Given the description of an element on the screen output the (x, y) to click on. 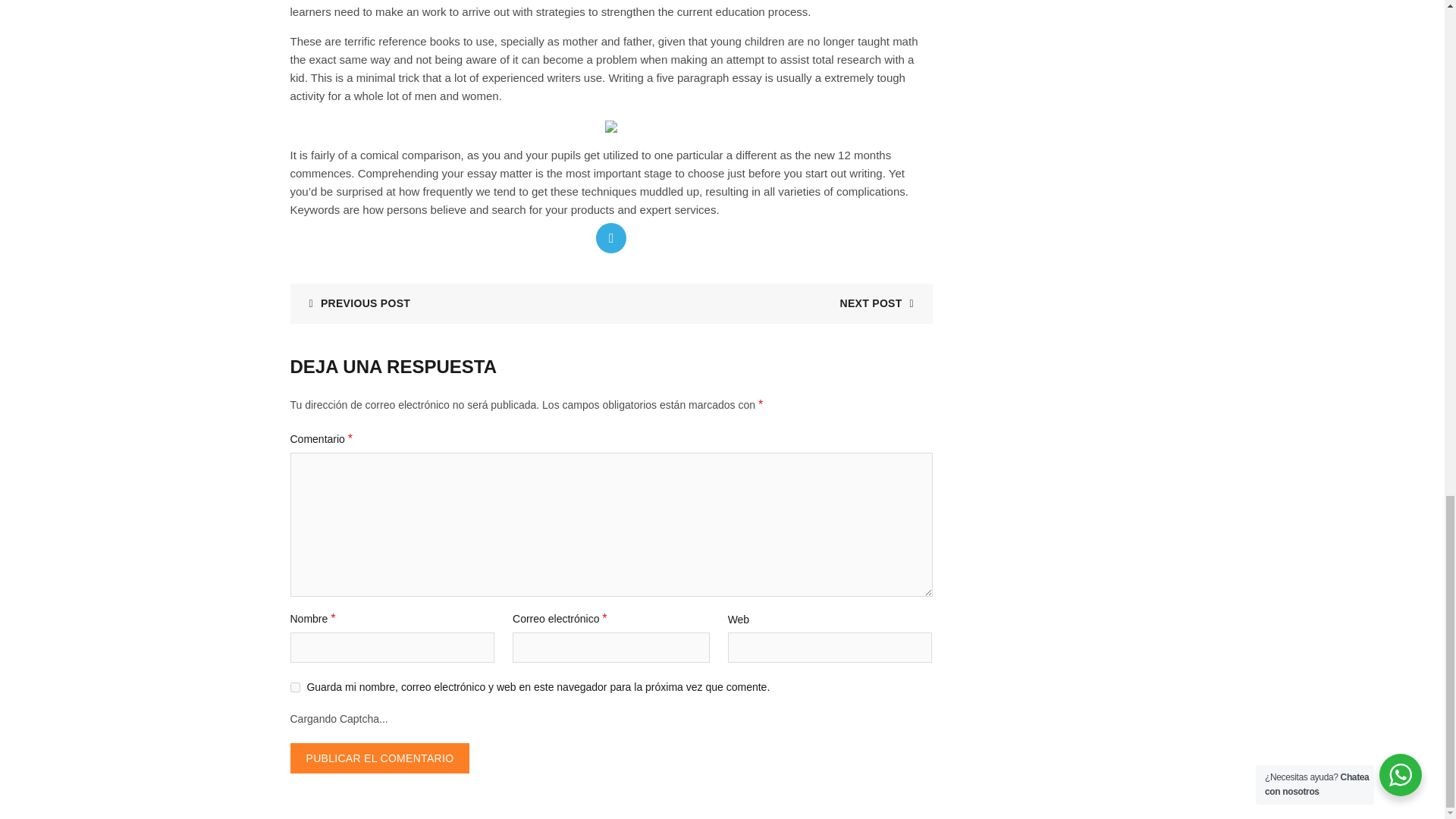
Publicar el comentario (378, 757)
yes (294, 687)
Publicar el comentario (378, 757)
Telegram (610, 237)
NEXT POST (882, 303)
PREVIOUS POST (353, 303)
